Given the description of an element on the screen output the (x, y) to click on. 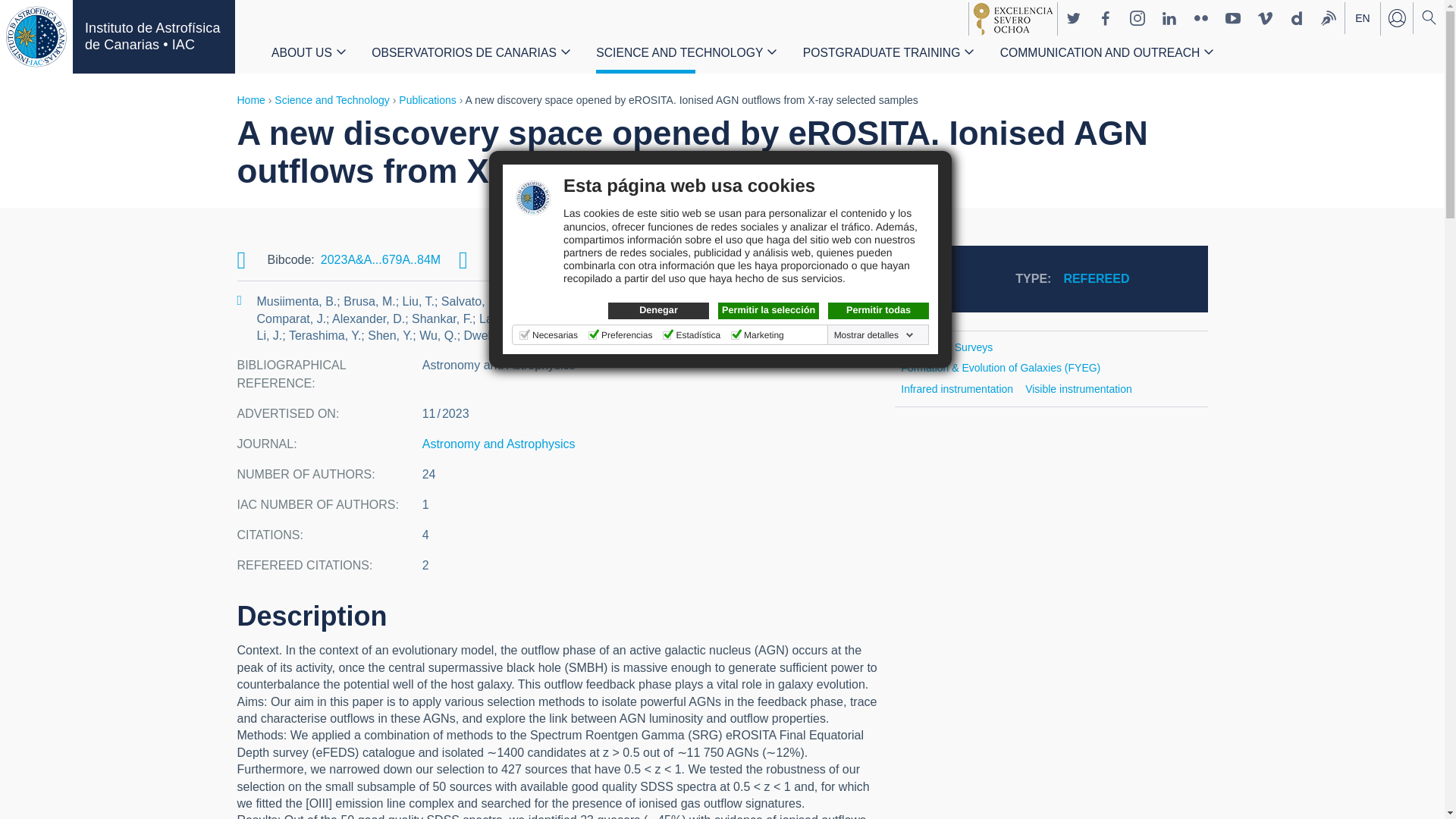
Mostrar detalles (874, 335)
Permitir todas (878, 310)
Denegar (658, 310)
